Given the description of an element on the screen output the (x, y) to click on. 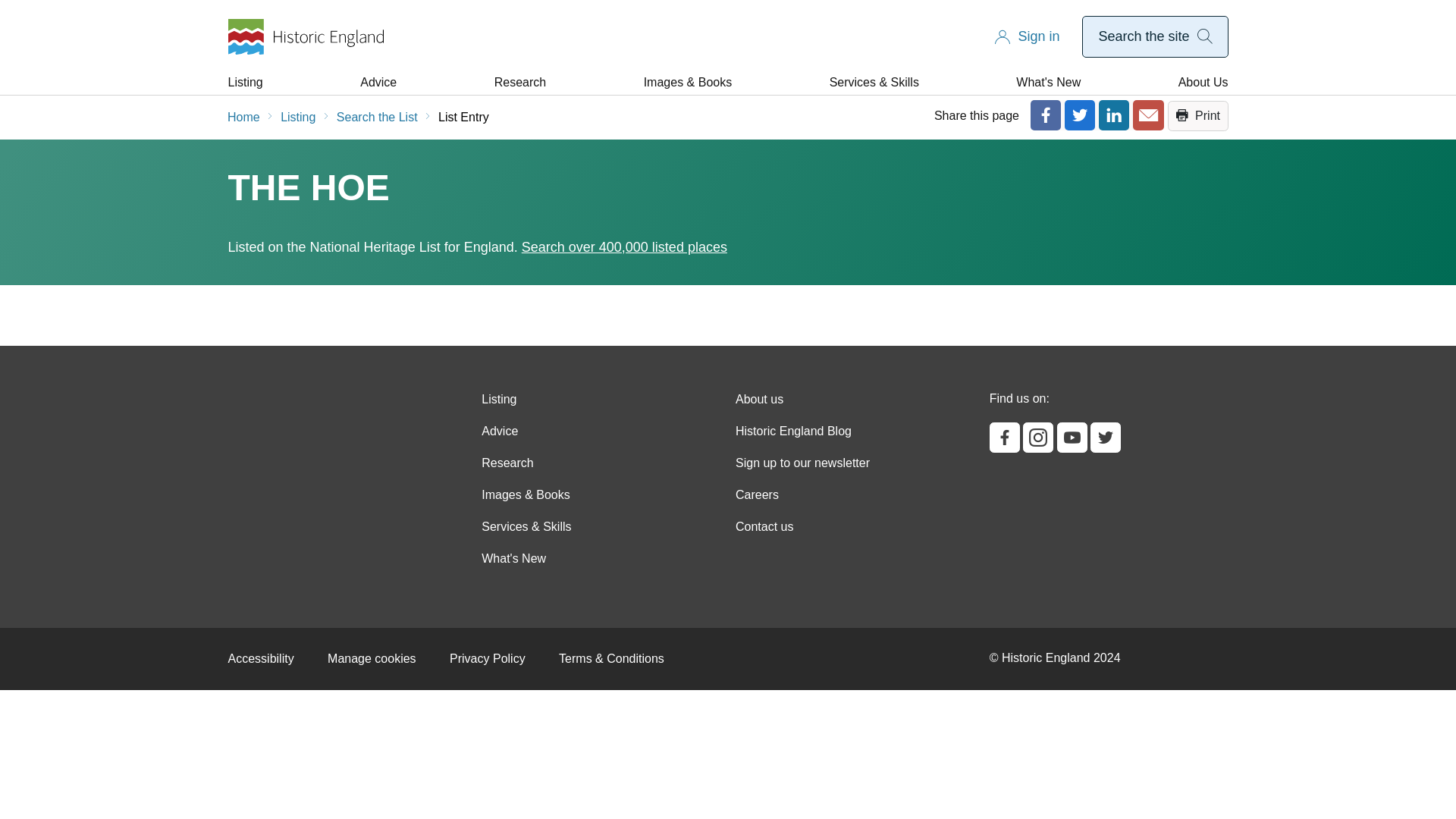
Share this page on Facebook (1045, 114)
Print this page (1197, 115)
What's New (1048, 82)
Sign in (1038, 36)
Historic England - home page (305, 36)
Share this page on LinkedIn (1114, 114)
Advice (377, 82)
Search the site (1154, 36)
Research (520, 82)
Search Historic England (1154, 36)
